Given the description of an element on the screen output the (x, y) to click on. 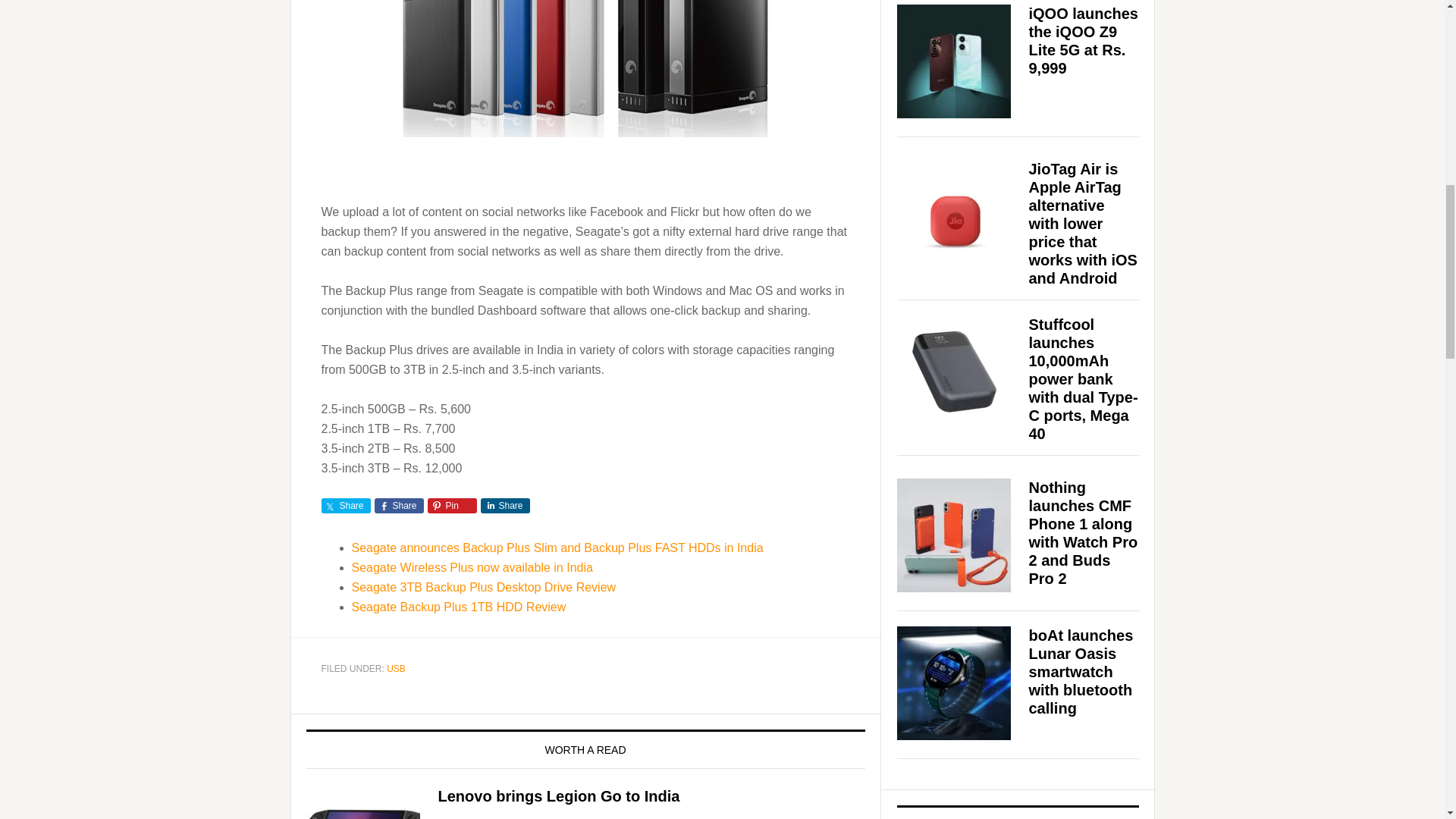
Seagate Backup Plus 1TB HDD Review (459, 606)
Share (504, 505)
Share (398, 505)
Seagate Backup Plus 1TB HDD Review (459, 606)
Seagate Wireless Plus now available in India (472, 567)
Pin (452, 505)
Seagate 3TB Backup Plus Desktop Drive Review (483, 586)
Seagate 3TB Backup Plus Desktop Drive Review (483, 586)
USB (396, 668)
Seagate Wireless Plus now available in India (472, 567)
Share (346, 505)
Lenovo brings Legion Go to India (558, 795)
